Given the description of an element on the screen output the (x, y) to click on. 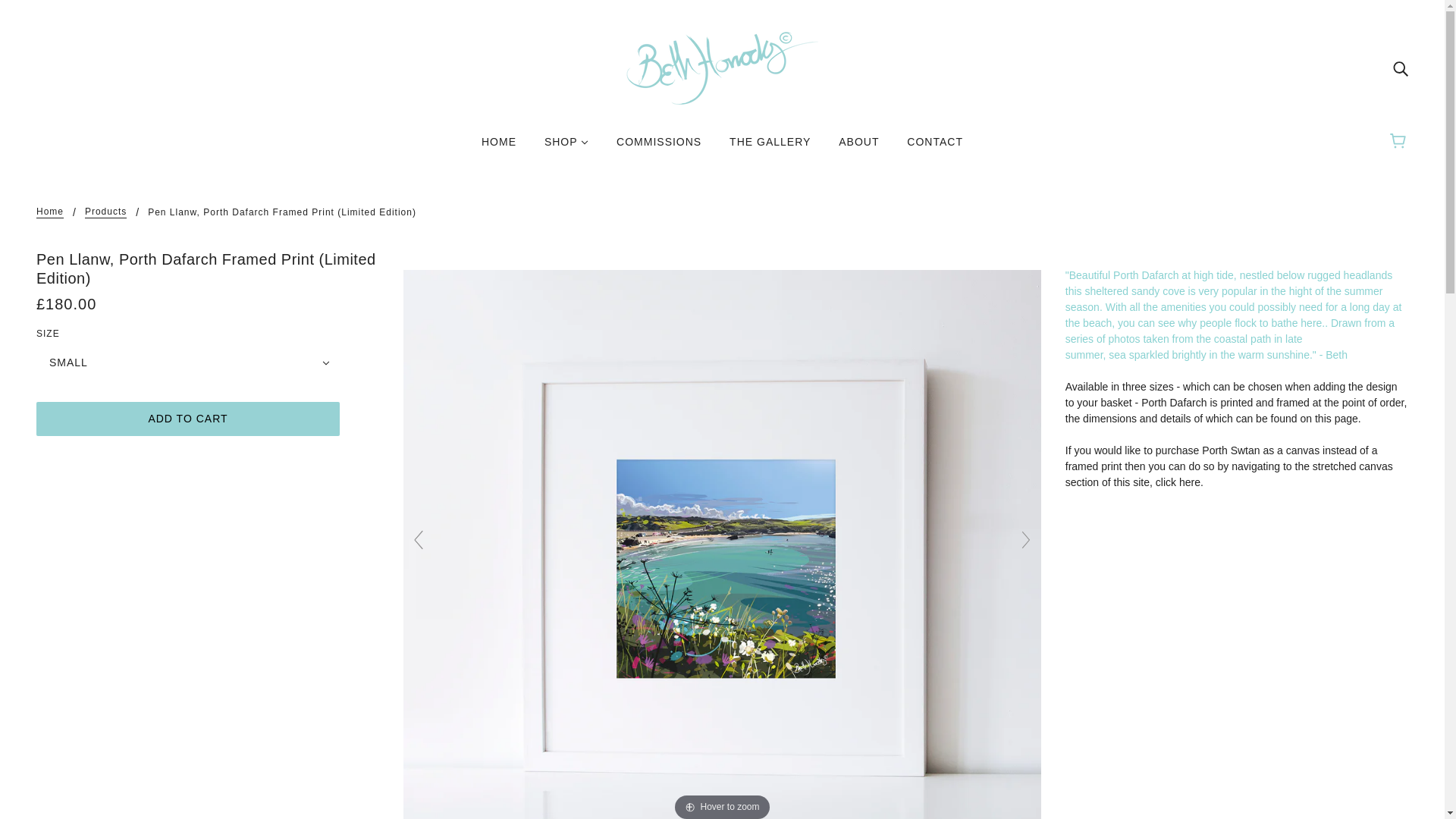
Oriel Beth Horrocks Gallery (721, 67)
Porth Dafarch Canvas (1229, 466)
